Given the description of an element on the screen output the (x, y) to click on. 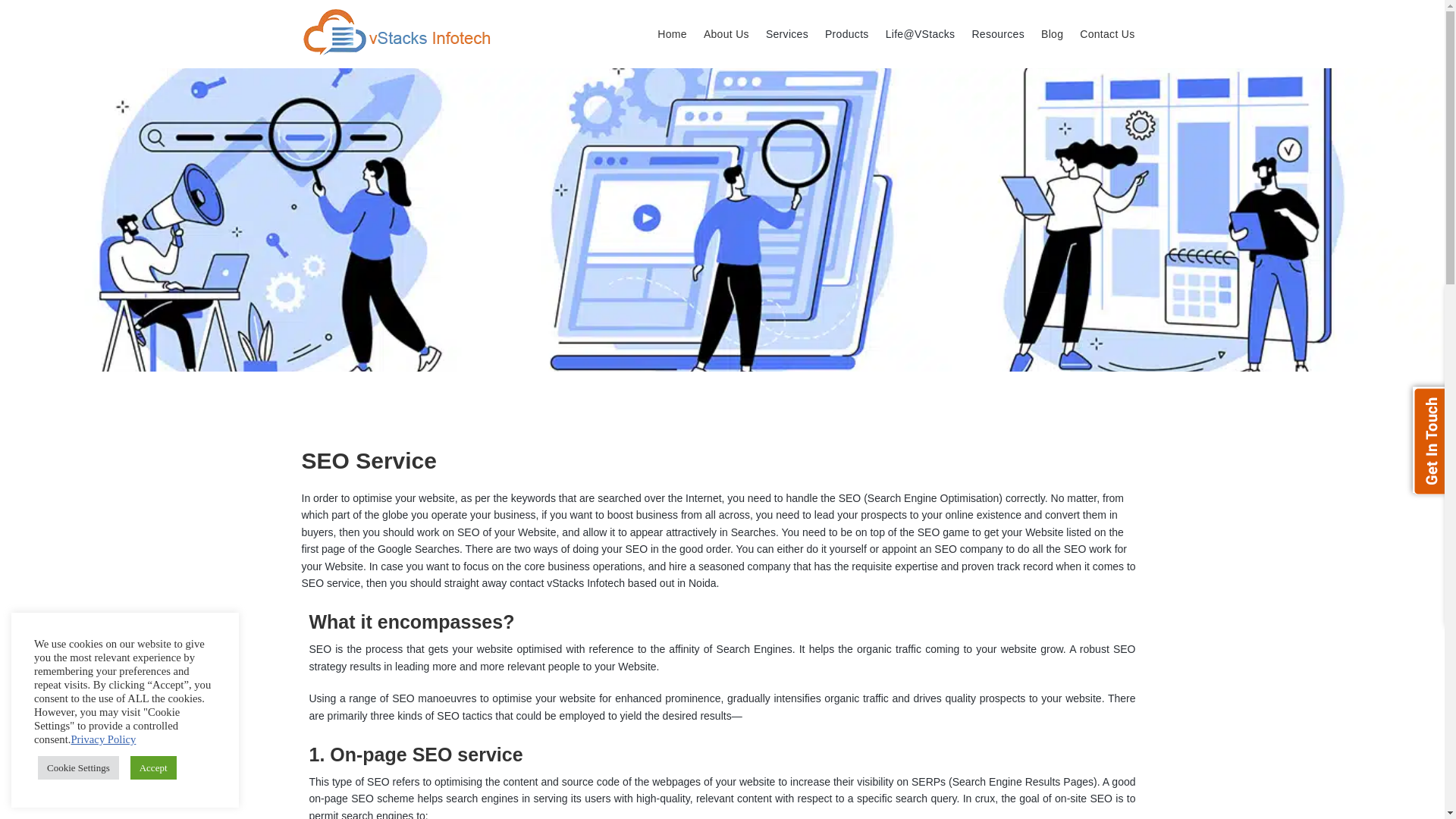
About Us (726, 33)
About Us (726, 33)
vStacks Infotech Pvt. Ltd. (398, 32)
